Given the description of an element on the screen output the (x, y) to click on. 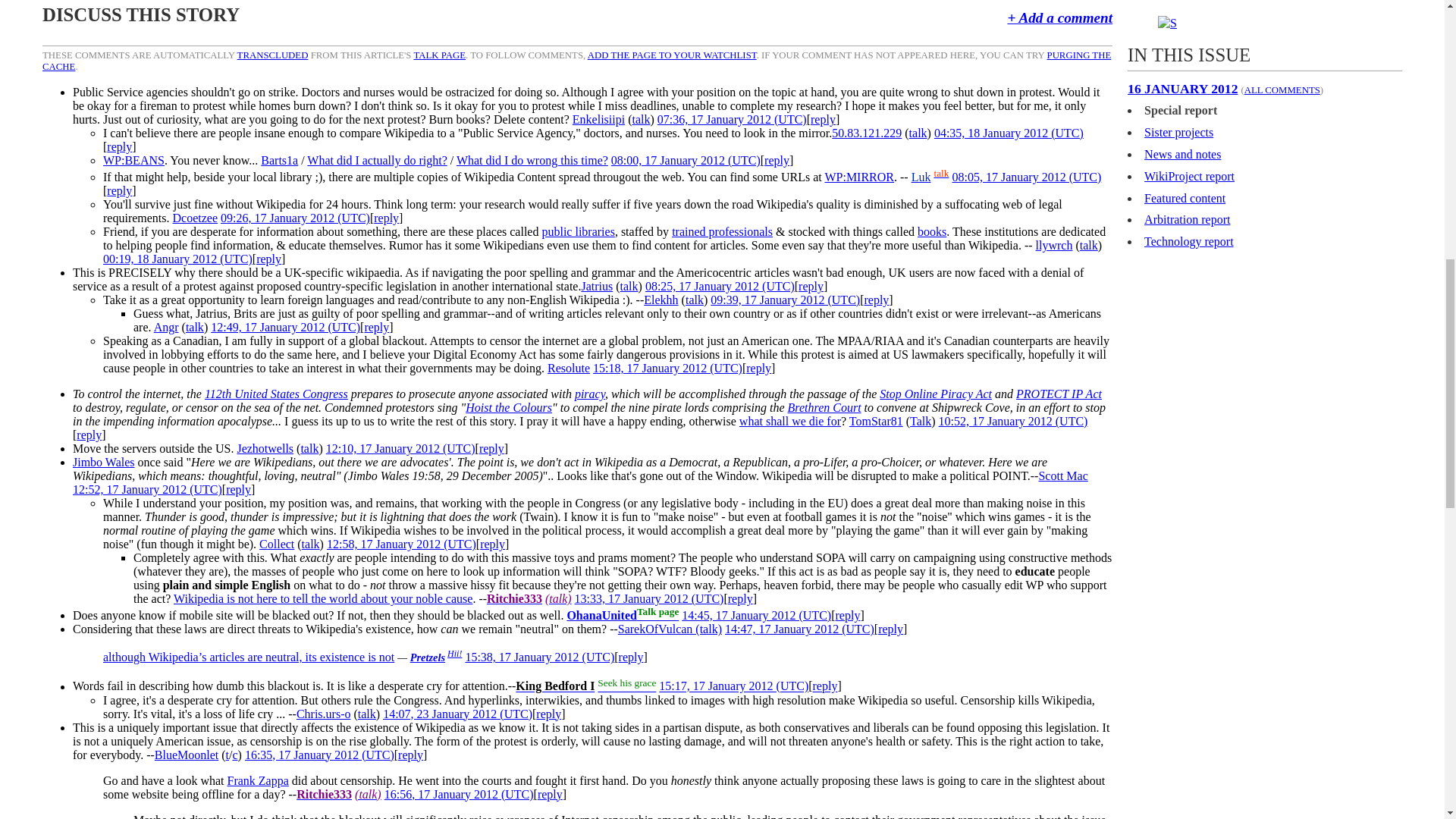
Featured content (1184, 197)
16 JANUARY 2012 (1181, 88)
TRANSCLUDED (272, 54)
ALL COMMENTS (1282, 90)
TALK PAGE (439, 54)
Purge this page (576, 60)
reply (119, 146)
Technology report (1188, 241)
Arbitration report (1187, 219)
PURGING THE CACHE (576, 60)
WP:BEANS (133, 160)
WikiProject report (1189, 175)
User:Enkelisiipi (598, 119)
News and notes (1182, 154)
Enkelisiipi (598, 119)
